Given the description of an element on the screen output the (x, y) to click on. 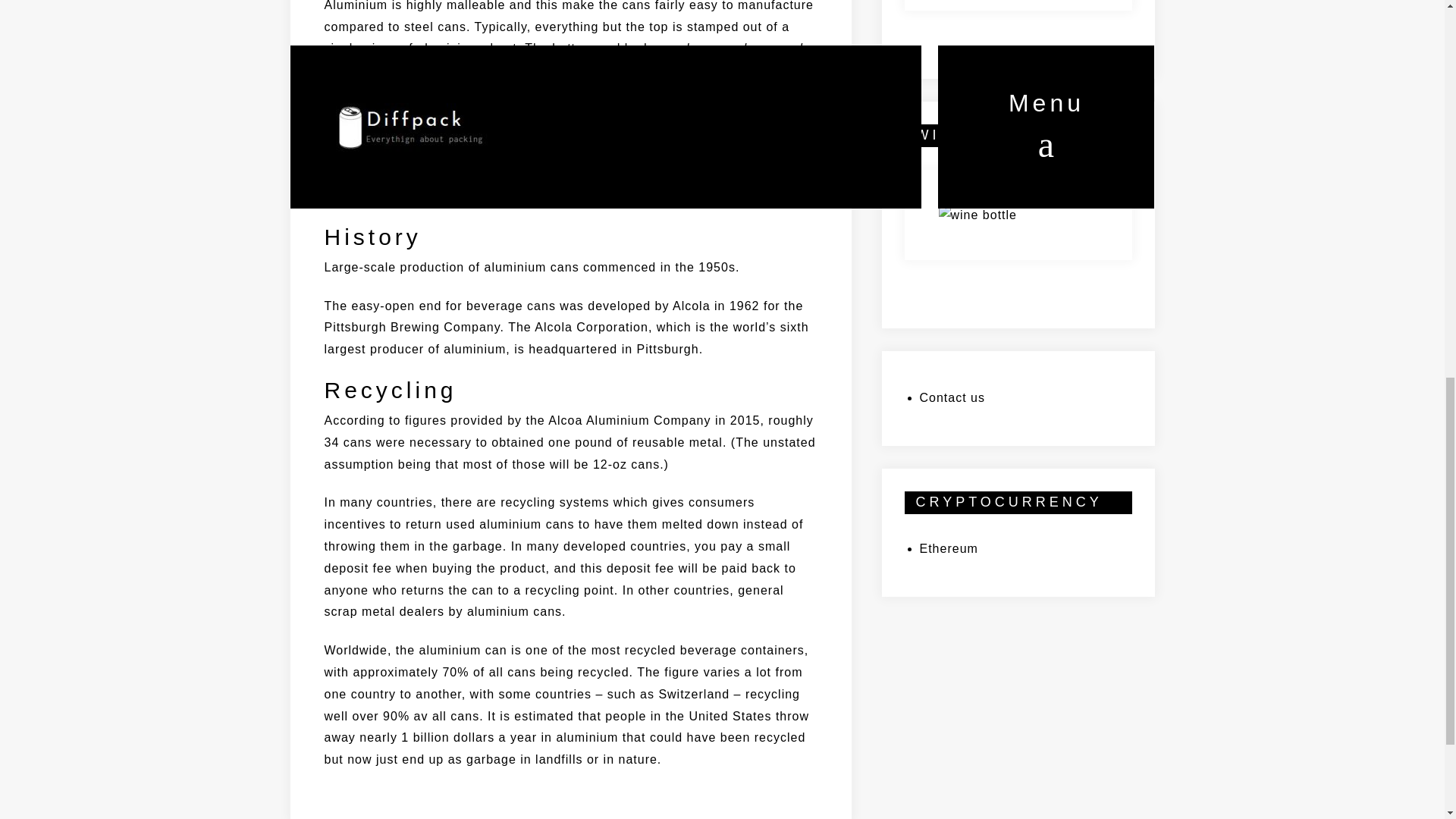
Contact us (951, 397)
Ethereum (947, 548)
Wine bottle (978, 214)
